Given the description of an element on the screen output the (x, y) to click on. 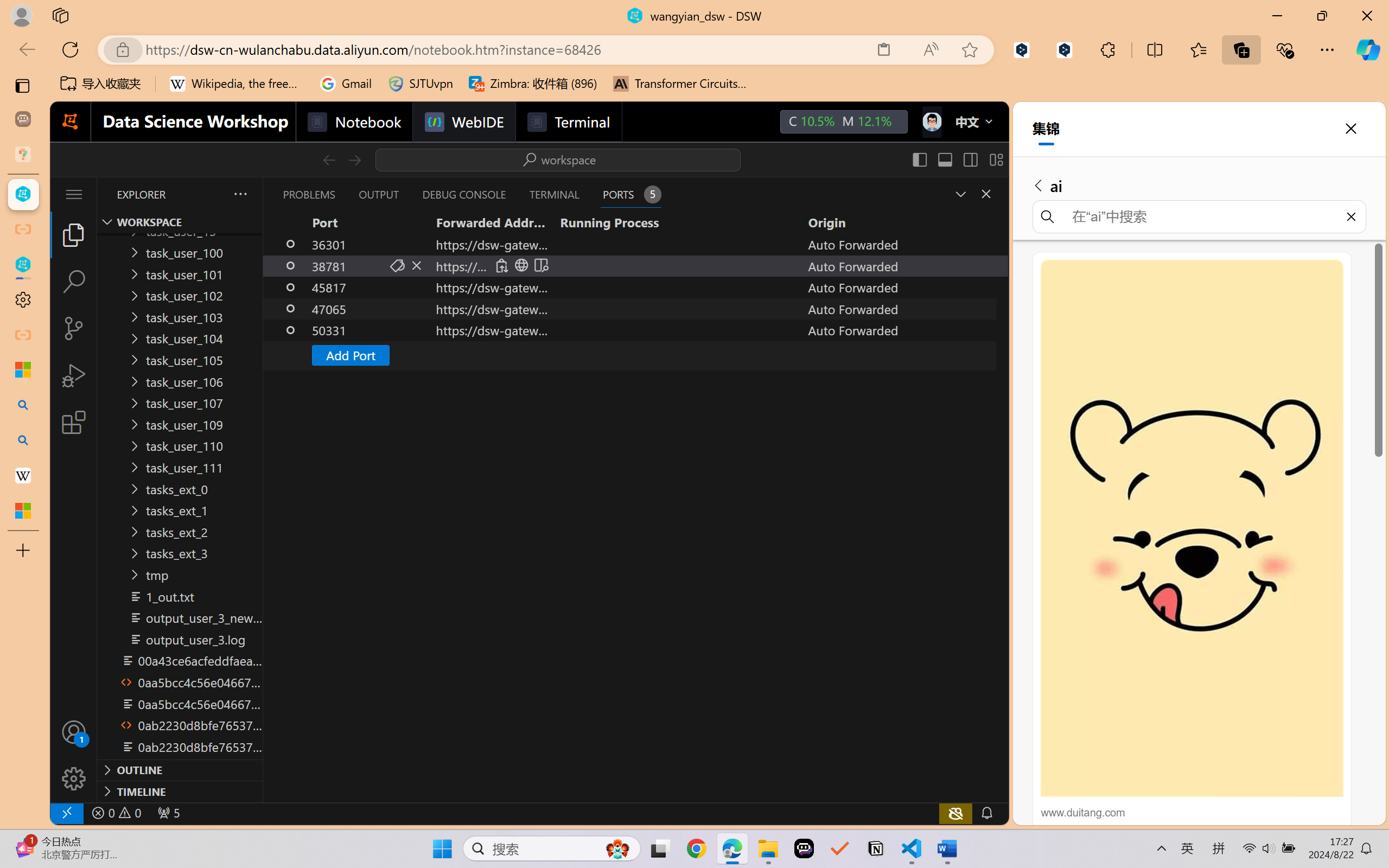
Title actions (957, 159)
Gmail (345, 83)
Stop Forwarding Port (Delete) (416, 265)
icon (930, 119)
Problems (Ctrl+Shift+M) (308, 194)
copilot-notconnected, Copilot error (click for details) (955, 812)
Debug Console (Ctrl+Shift+Y) (463, 194)
